Given the description of an element on the screen output the (x, y) to click on. 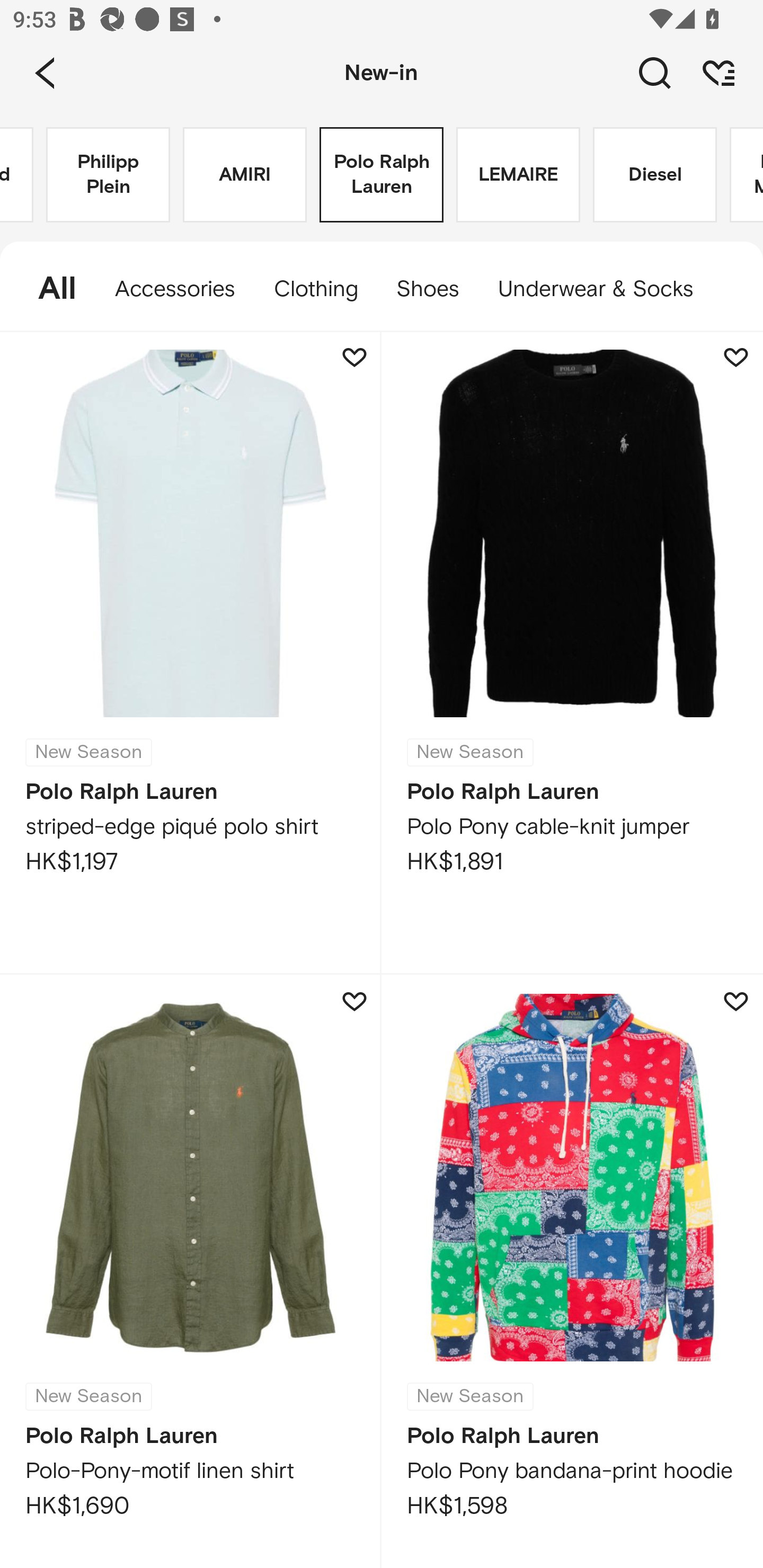
Philipp Plein (107, 174)
AMIRI (244, 174)
Polo Ralph Lauren (381, 174)
LEMAIRE (517, 174)
Diesel (654, 174)
All (47, 288)
Accessories (174, 288)
Clothing (315, 288)
Shoes (427, 288)
Underwear & Socks (604, 288)
